Given the description of an element on the screen output the (x, y) to click on. 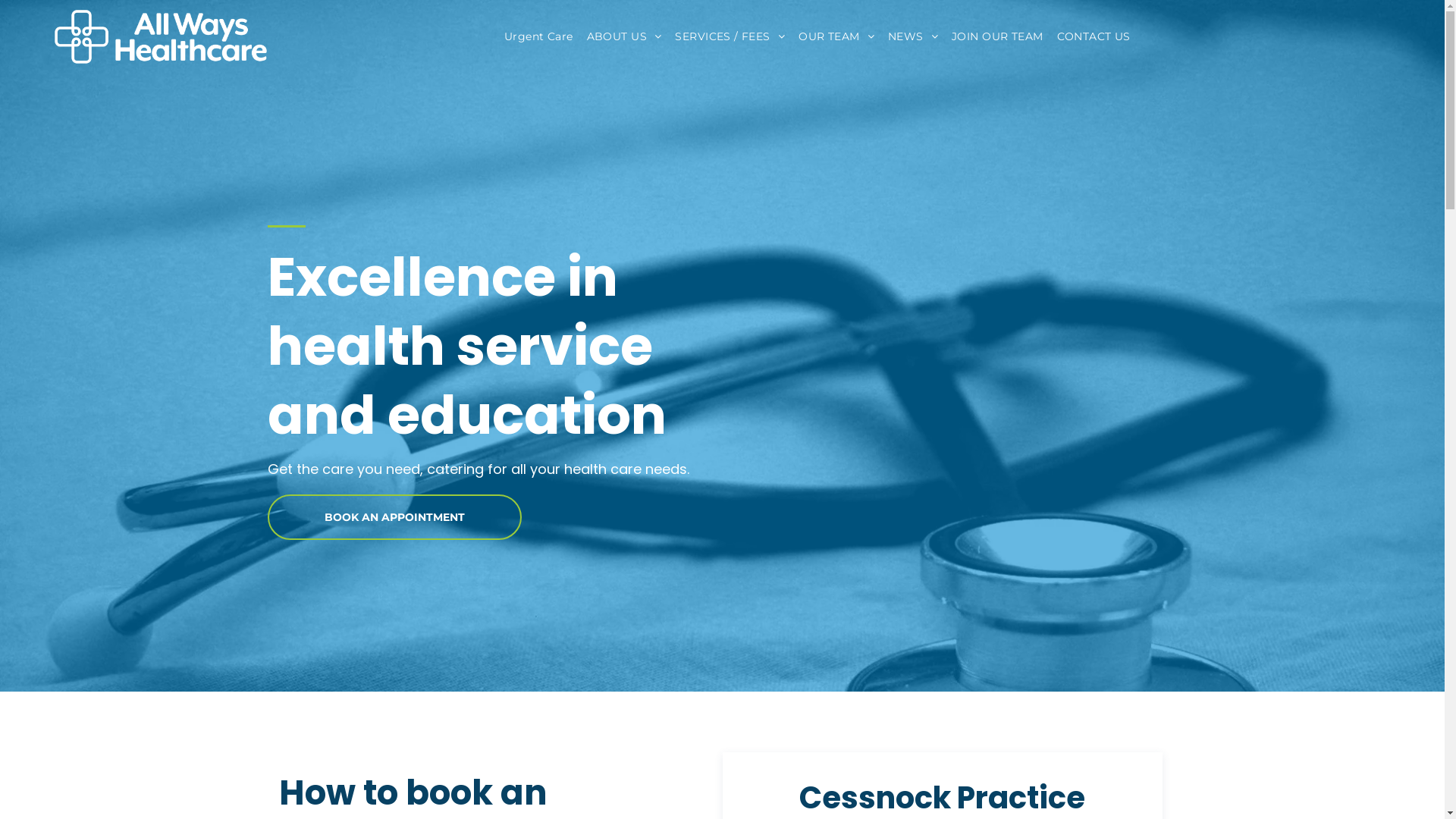
JOIN OUR TEAM Element type: text (1003, 36)
SERVICES / FEES Element type: text (736, 36)
NEWS Element type: text (919, 36)
CONTACT US Element type: text (1100, 36)
Urgent Care Element type: text (545, 36)
ABOUT US Element type: text (630, 36)
OUR TEAM Element type: text (843, 36)
BOOK AN APPOINTMENT Element type: text (393, 516)
